Given the description of an element on the screen output the (x, y) to click on. 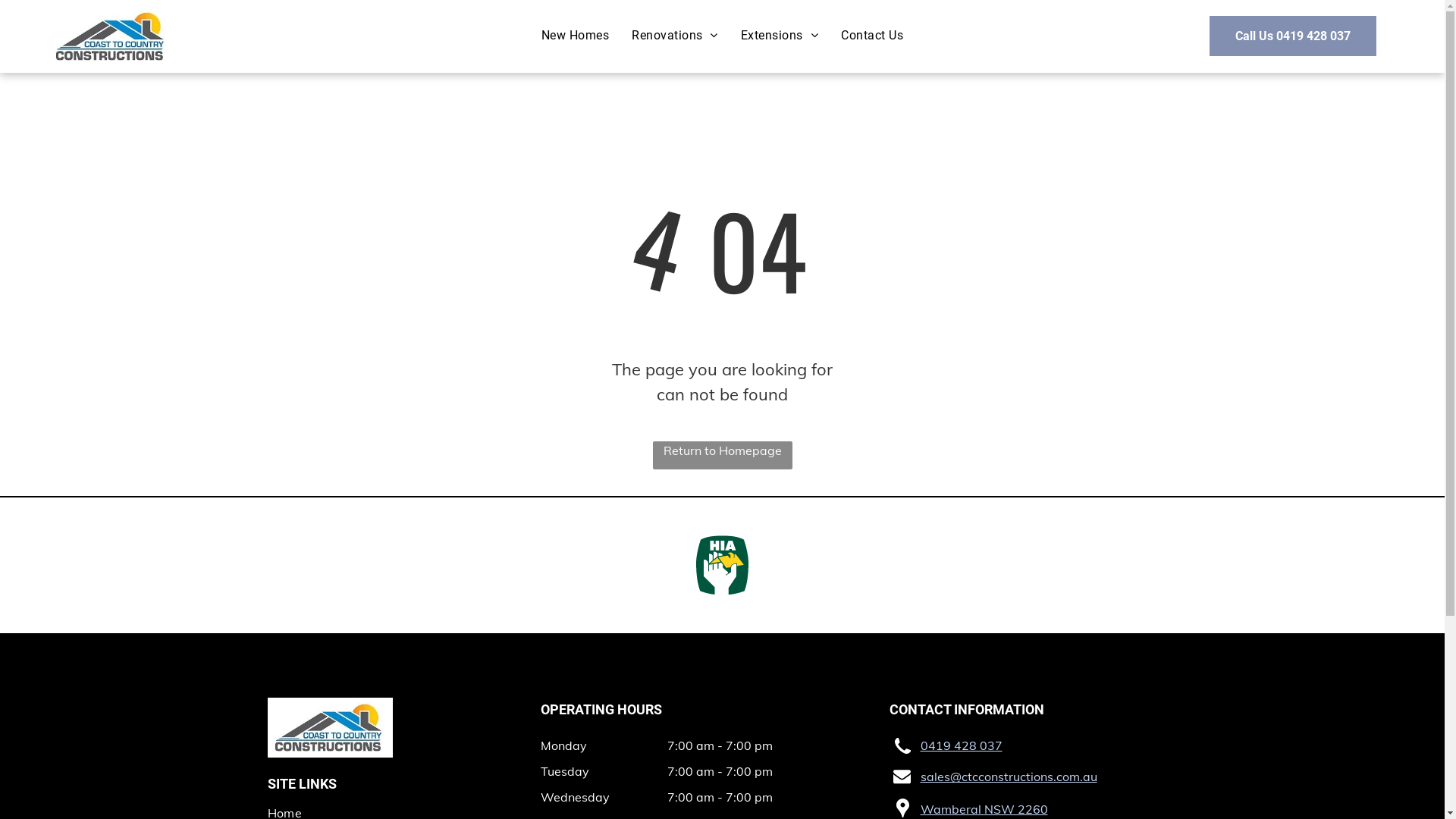
Call Us 0419 428 037 Element type: text (1292, 35)
Return to Homepage Element type: text (721, 455)
HIA Element type: hover (722, 565)
0419 428 037 Element type: text (961, 745)
sales@ctcconstructions.com.au Element type: text (1008, 776)
New Homes Element type: text (575, 35)
Renovations Element type: text (674, 35)
Wamberal NSW 2260 Element type: text (984, 808)
Contact Us Element type: text (871, 35)
Extensions Element type: text (779, 35)
